Given the description of an element on the screen output the (x, y) to click on. 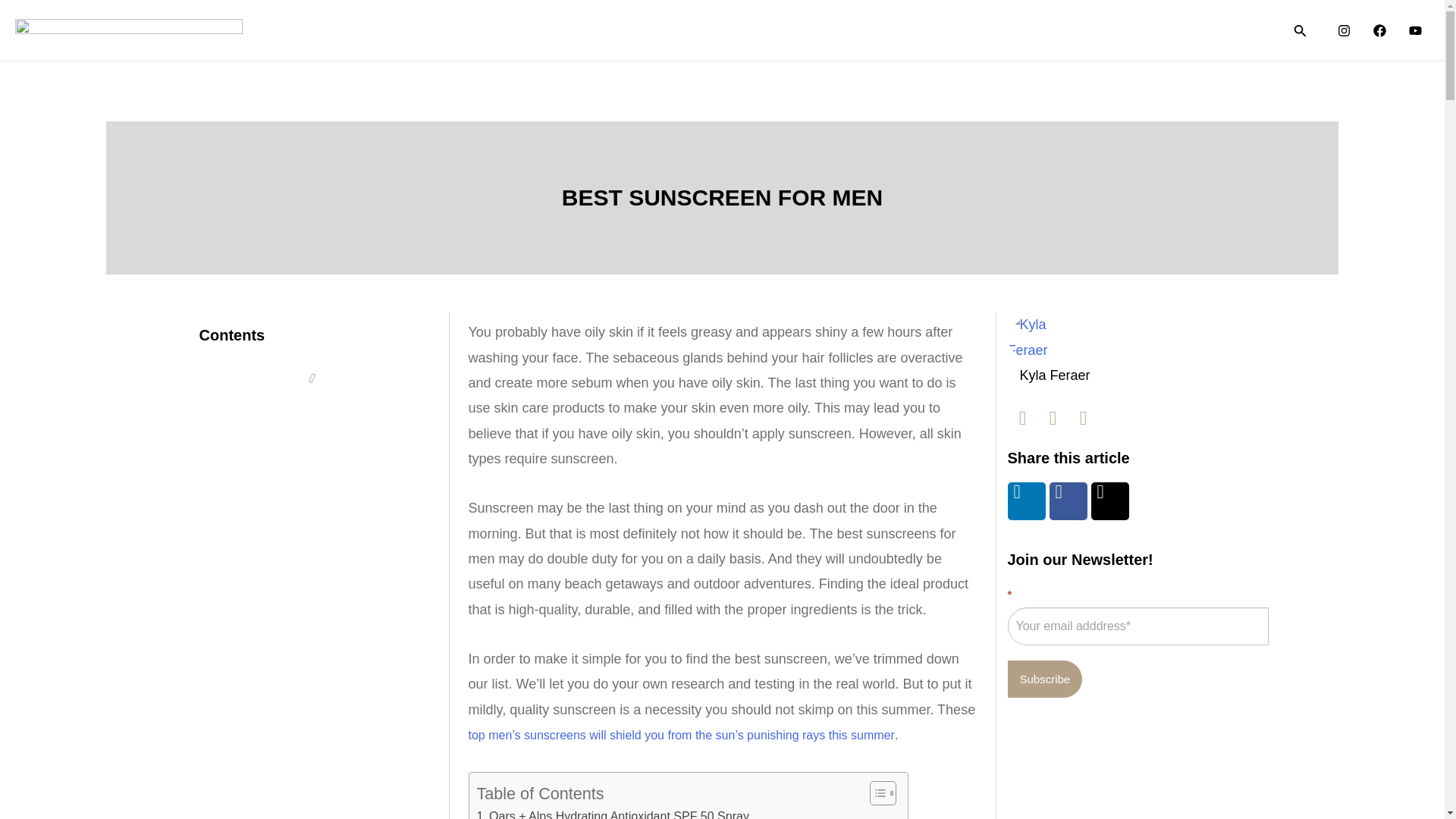
SMELL GOOD (996, 30)
NEWSLETTER (1212, 30)
Search (1299, 30)
LOOK GOOD (887, 30)
FEEL GOOD (1103, 30)
TRENDING (786, 30)
